Given the description of an element on the screen output the (x, y) to click on. 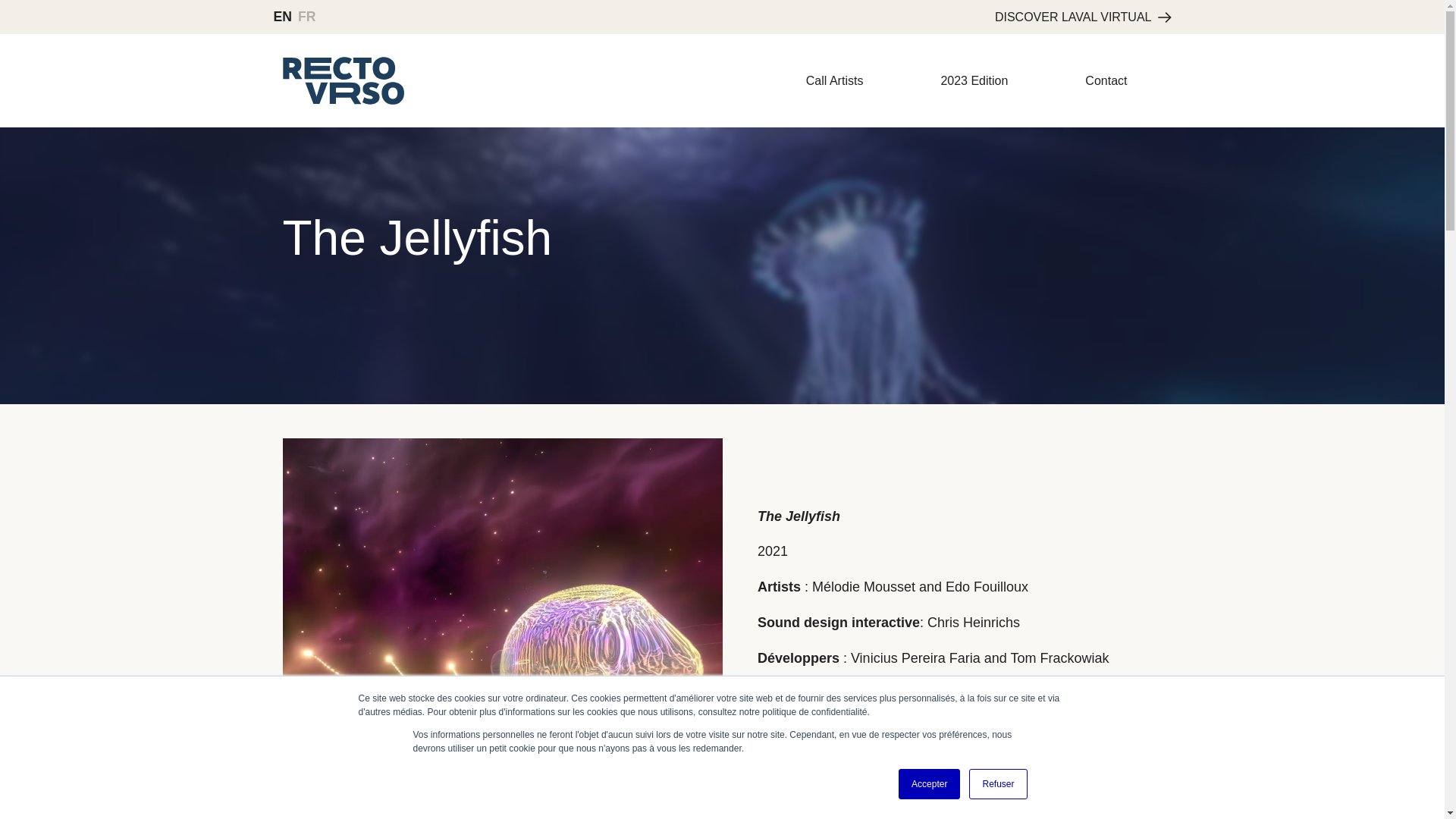
Contact (1105, 80)
FR (306, 16)
Accepter (928, 784)
EN (282, 16)
Call Artists (834, 80)
DISCOVER LAVAL VIRTUAL (1083, 16)
2023 Edition (974, 80)
Refuser (997, 784)
